Given the description of an element on the screen output the (x, y) to click on. 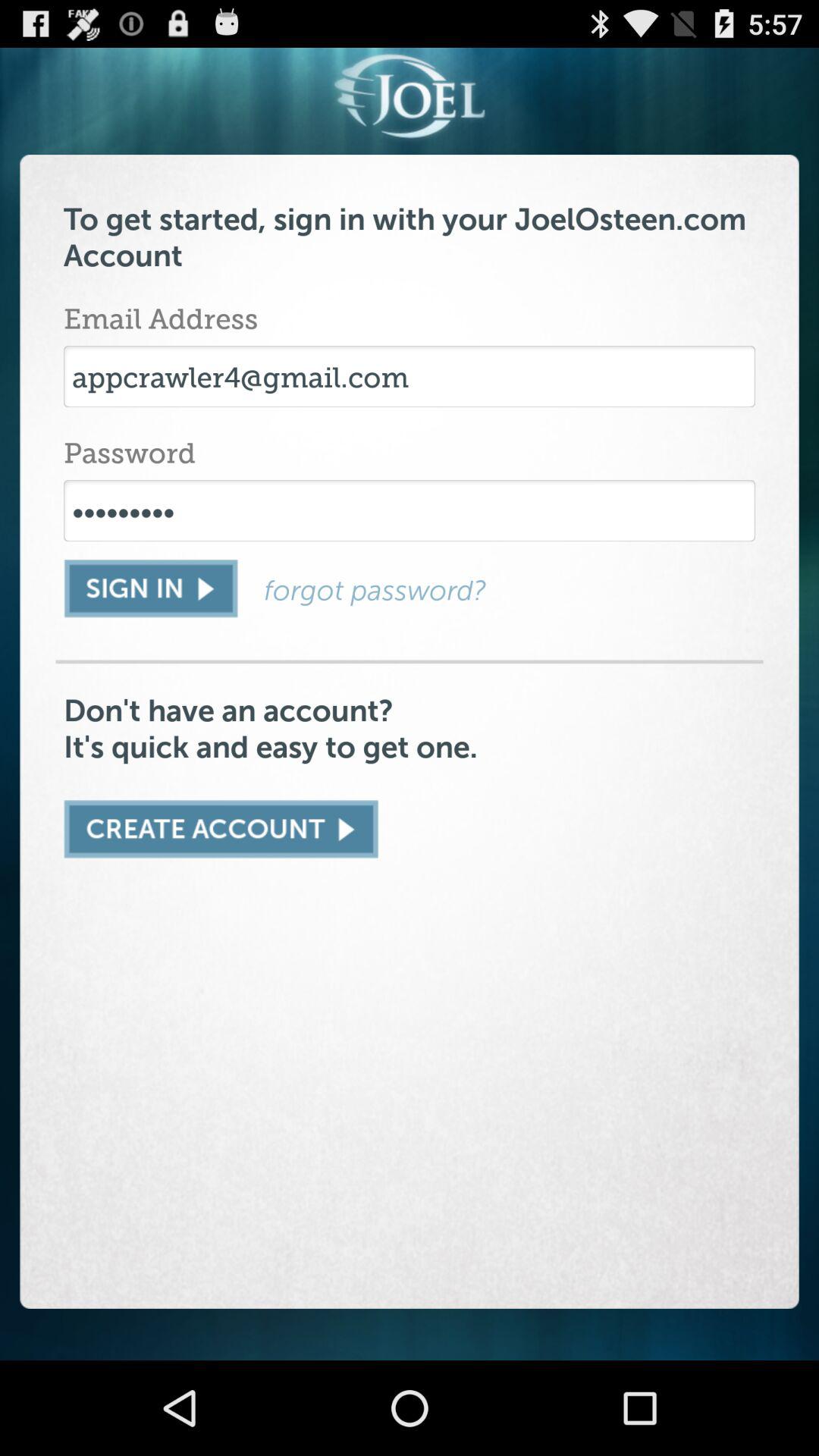
turn on item below password item (409, 510)
